Given the description of an element on the screen output the (x, y) to click on. 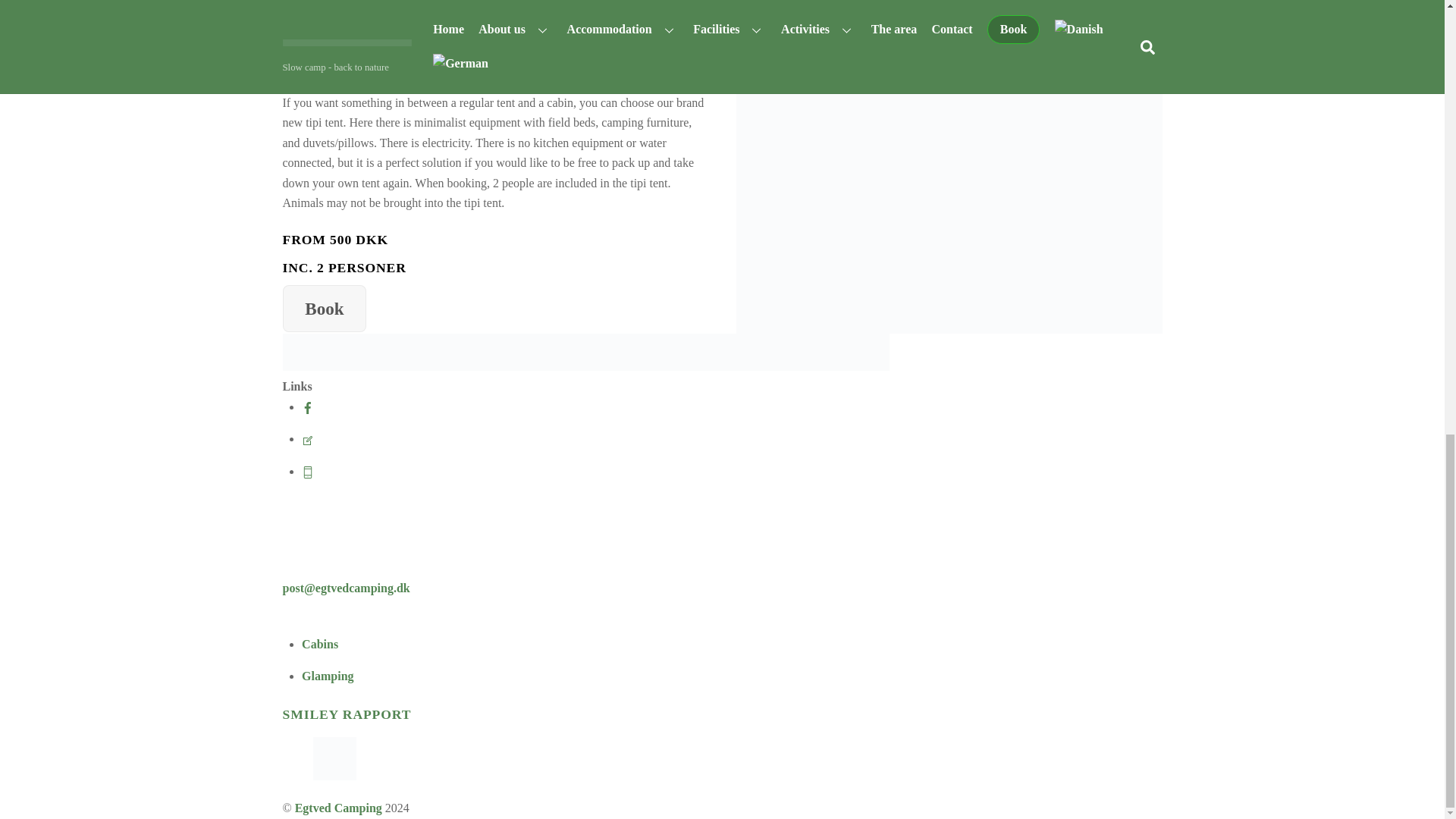
tipi (948, 191)
Egtved Camping (585, 366)
